Given the description of an element on the screen output the (x, y) to click on. 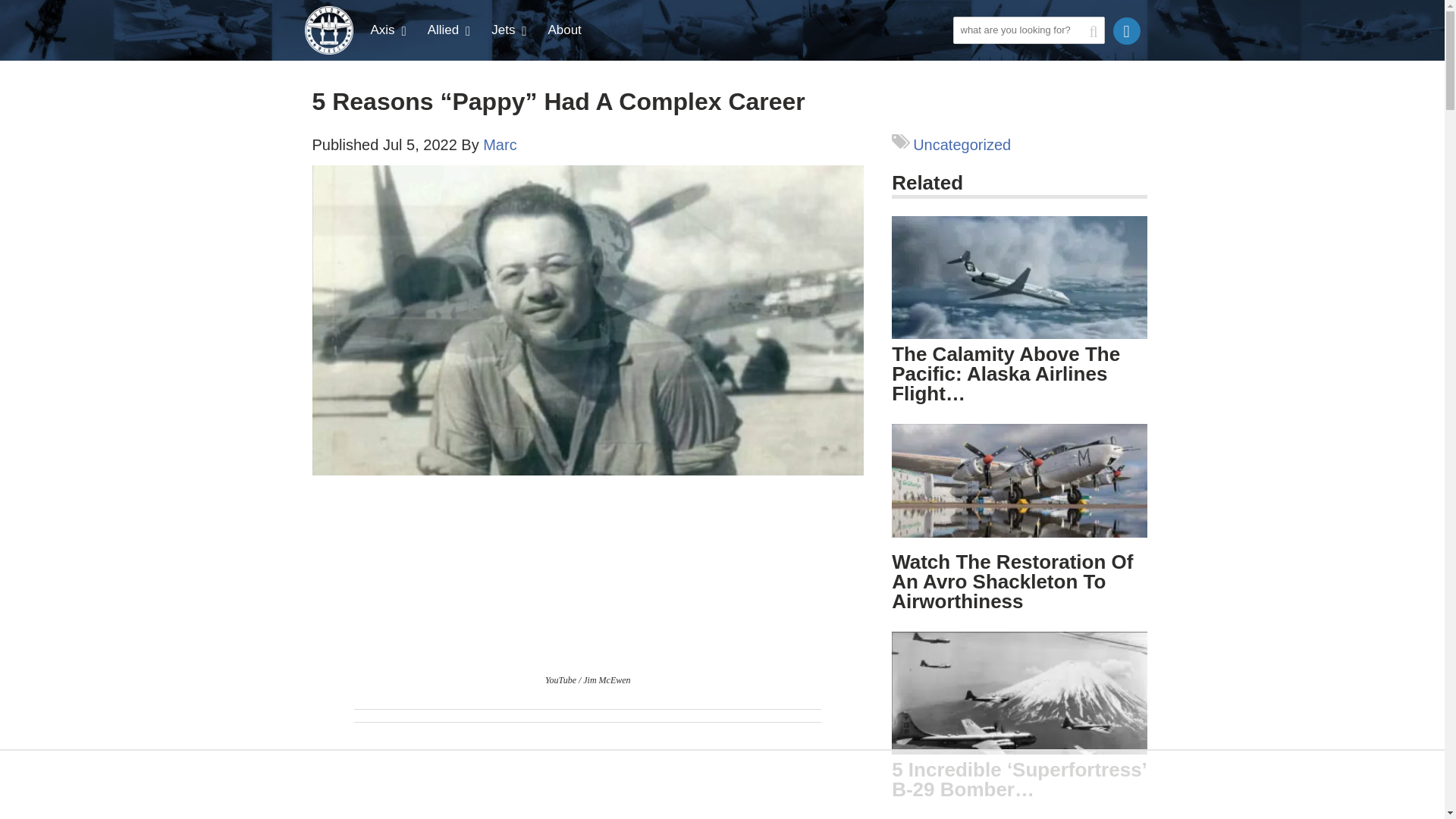
Search (967, 56)
Jets (509, 29)
Search (967, 56)
Watch the Restoration of an Avro Shackleton to Airworthiness (1019, 480)
Allied (449, 29)
Watch the Restoration of an Avro Shackleton to Airworthiness (1011, 581)
Watch the Restoration of an Avro Shackleton to Airworthiness (1019, 485)
Axis (389, 29)
Search for: (1027, 30)
